Given the description of an element on the screen output the (x, y) to click on. 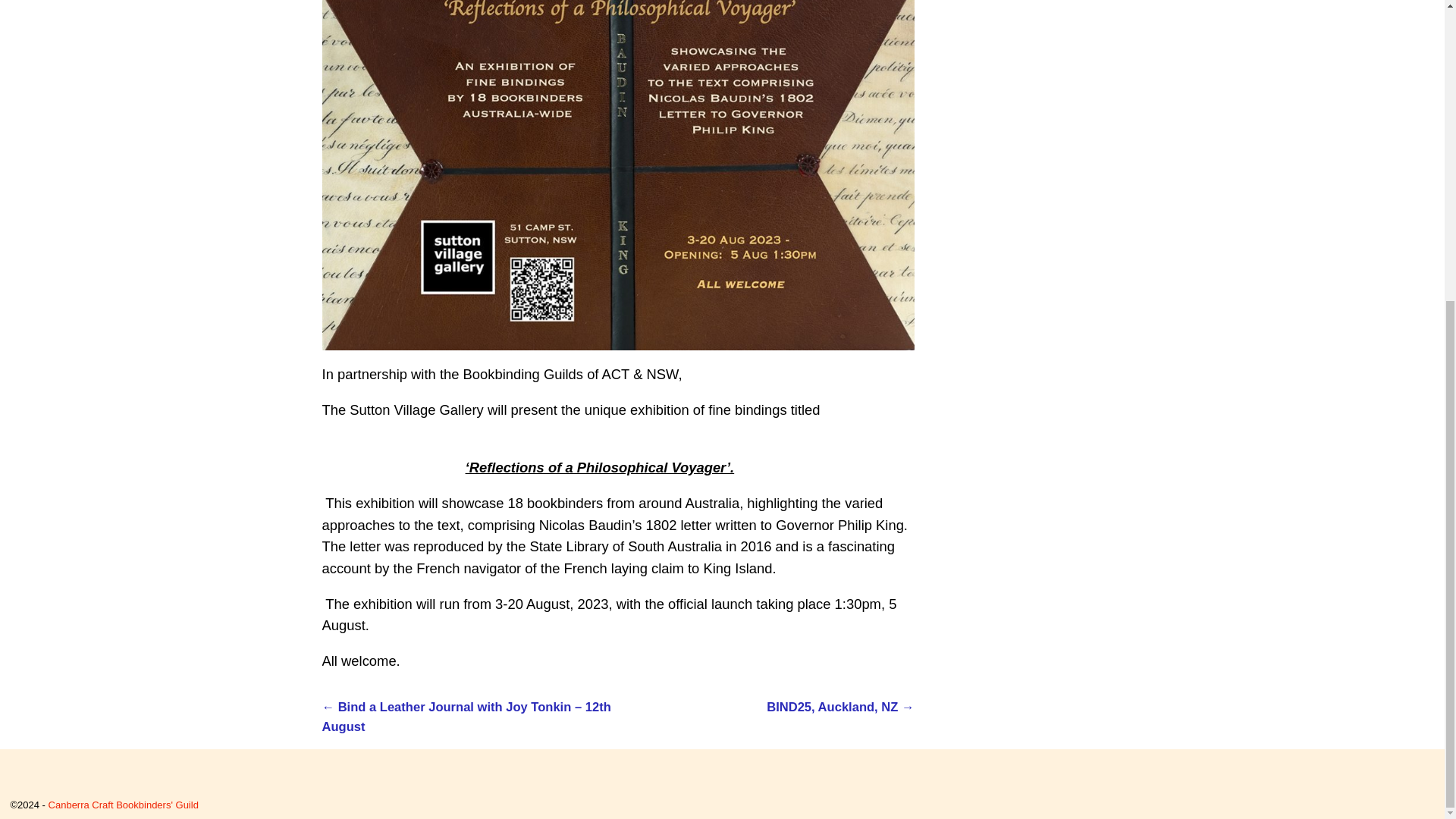
Canberra Craft Bookbinders' Guild (123, 804)
